Given the description of an element on the screen output the (x, y) to click on. 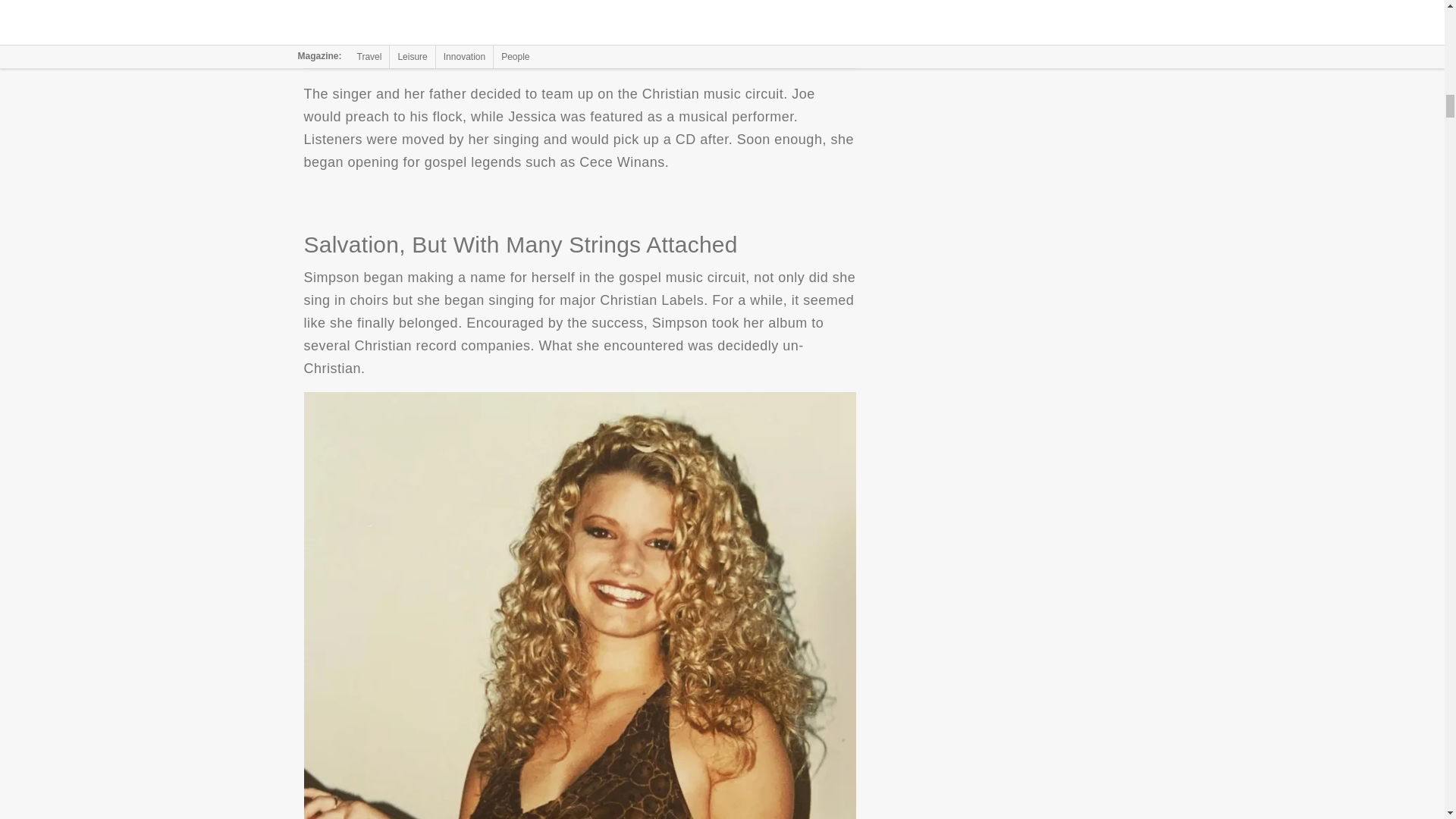
No Better Support System Than Family (579, 28)
